Given the description of an element on the screen output the (x, y) to click on. 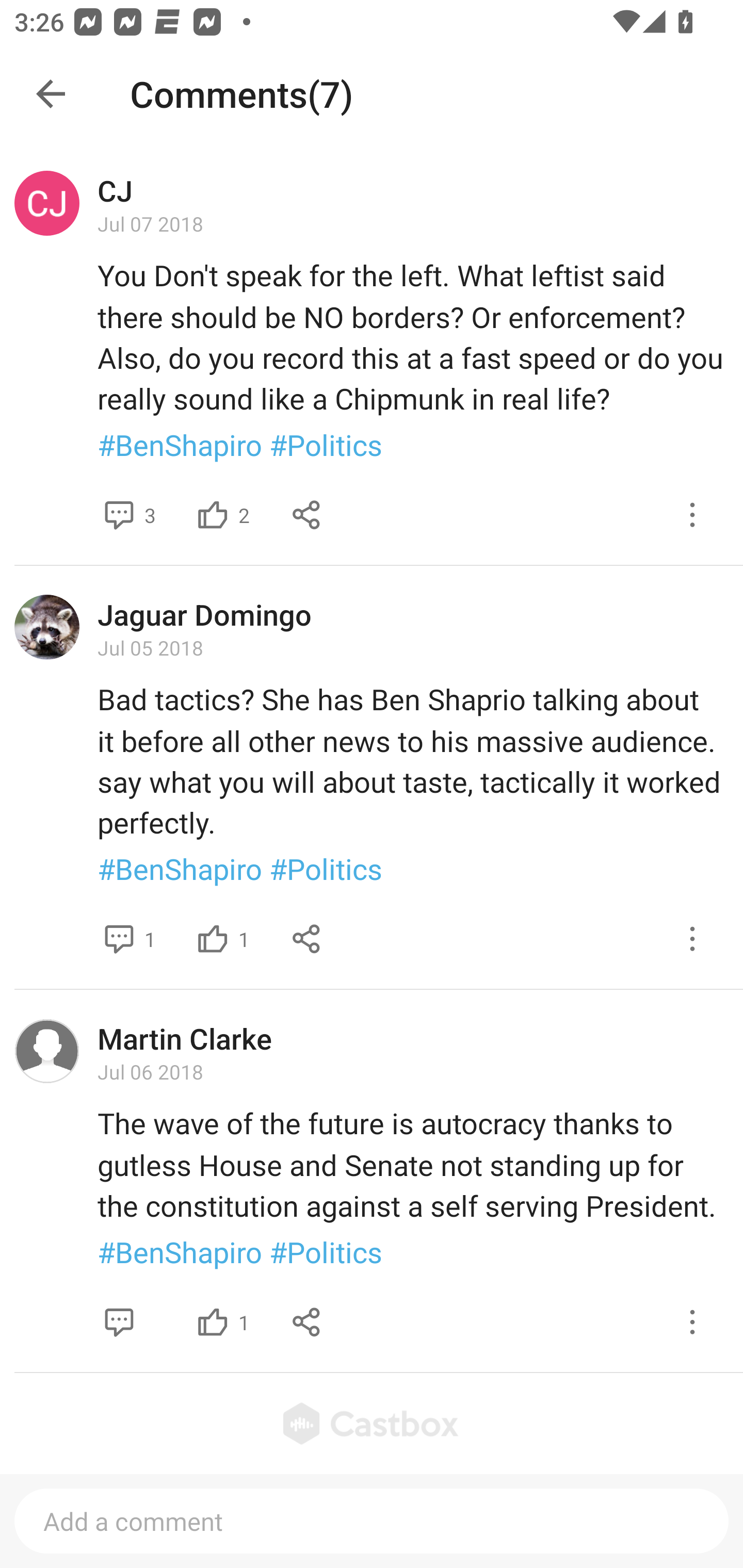
Navigate up (50, 93)
 (119, 514)
 (212, 514)
 (307, 514)
 (692, 514)
 (119, 939)
 (212, 939)
 (307, 939)
 (692, 939)
 (119, 1321)
 (212, 1321)
 (307, 1321)
 (692, 1321)
Add a comment (371, 1520)
